Given the description of an element on the screen output the (x, y) to click on. 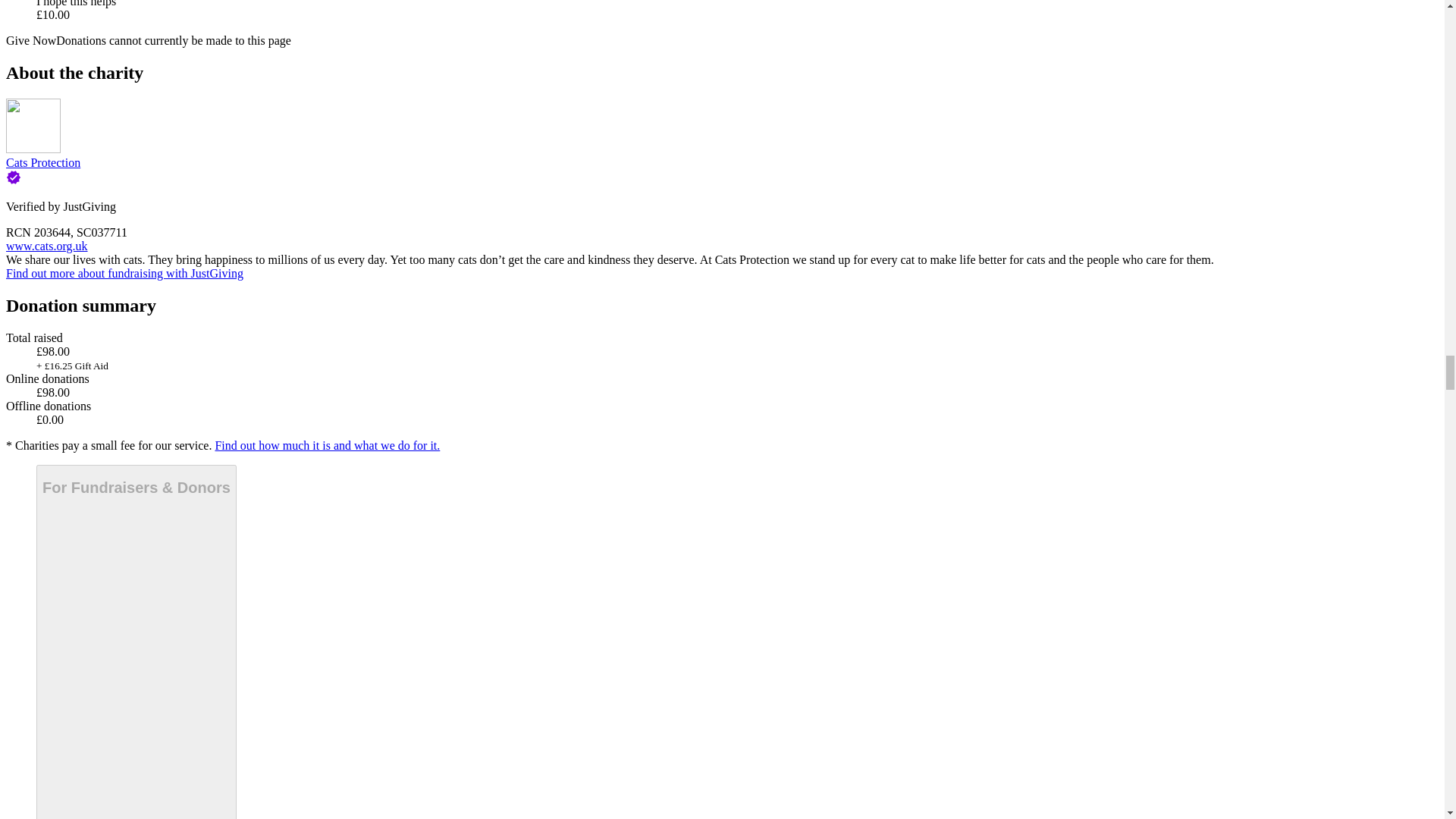
Cats Protection (42, 162)
Find out how much it is and what we do for it. (326, 445)
Find out more about fundraising with JustGiving (124, 273)
www.cats.org.uk (46, 245)
